Given the description of an element on the screen output the (x, y) to click on. 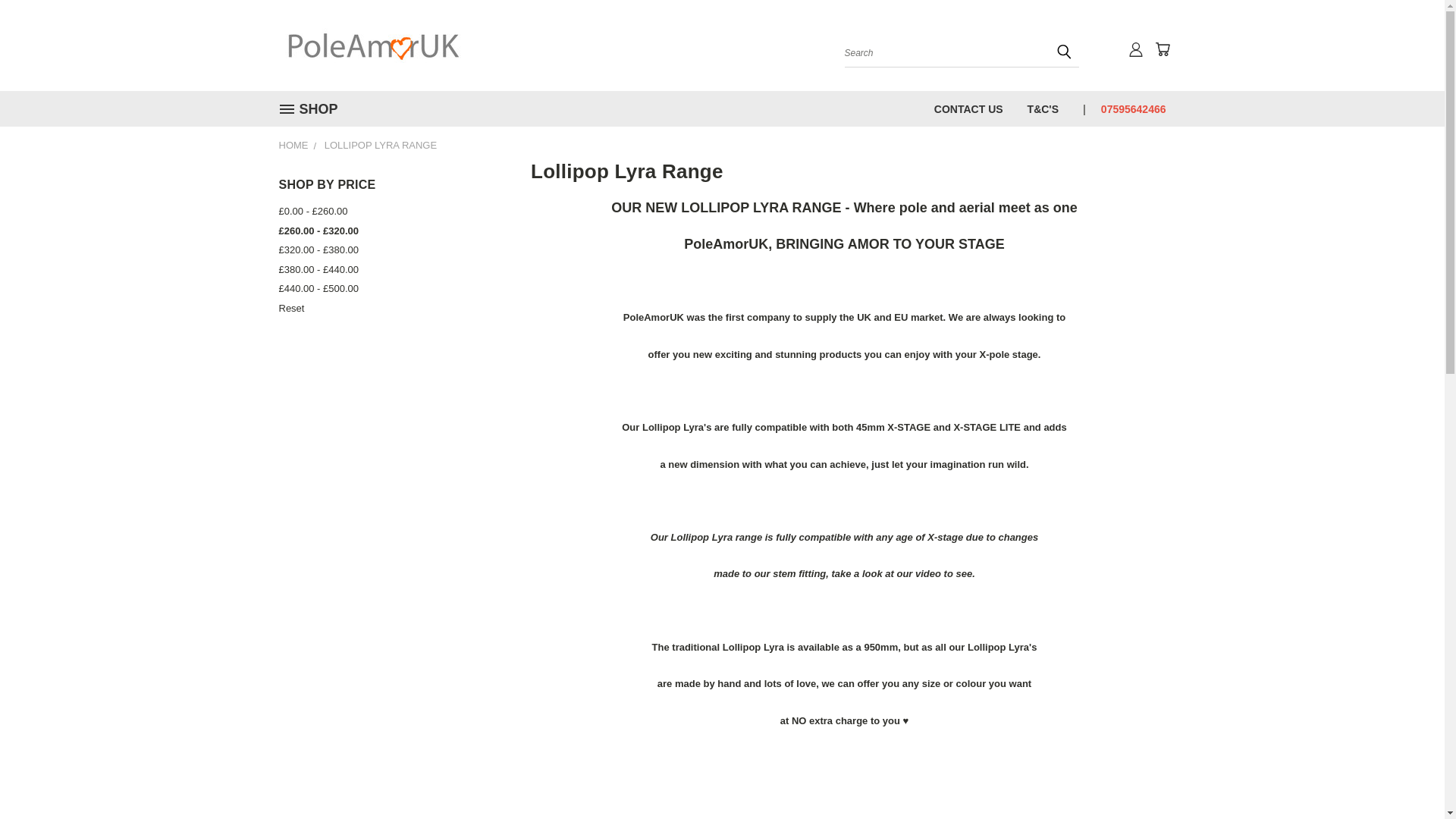
SHOP (314, 109)
submit (1064, 51)
PoleAmorUK (373, 45)
